Given the description of an element on the screen output the (x, y) to click on. 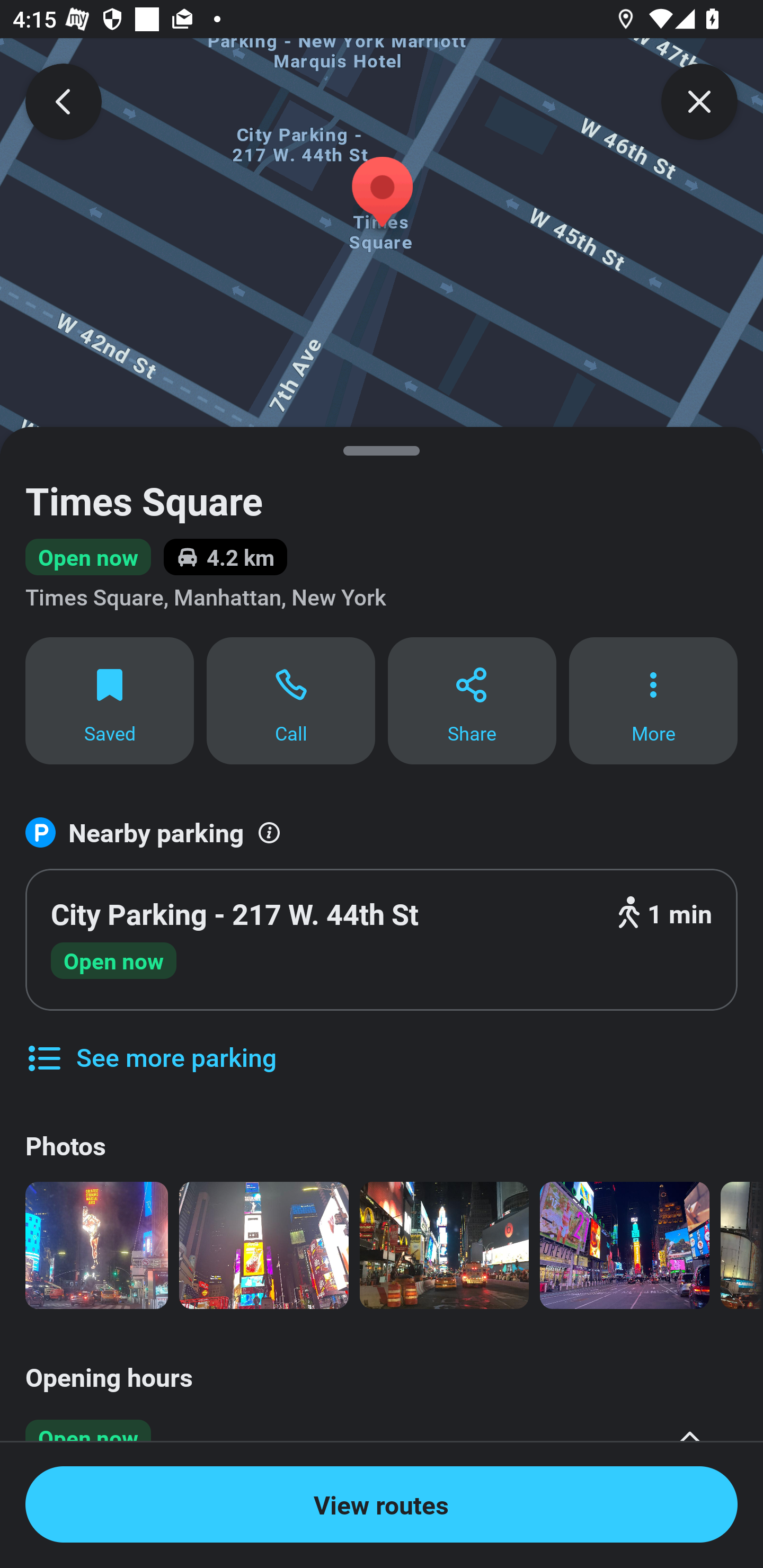
Saved (109, 700)
Call (290, 700)
Share (471, 700)
More (653, 700)
City Parking - 217 W. 44th St 1 min Open now (381, 939)
See more parking (150, 1043)
View routes (381, 1504)
